Given the description of an element on the screen output the (x, y) to click on. 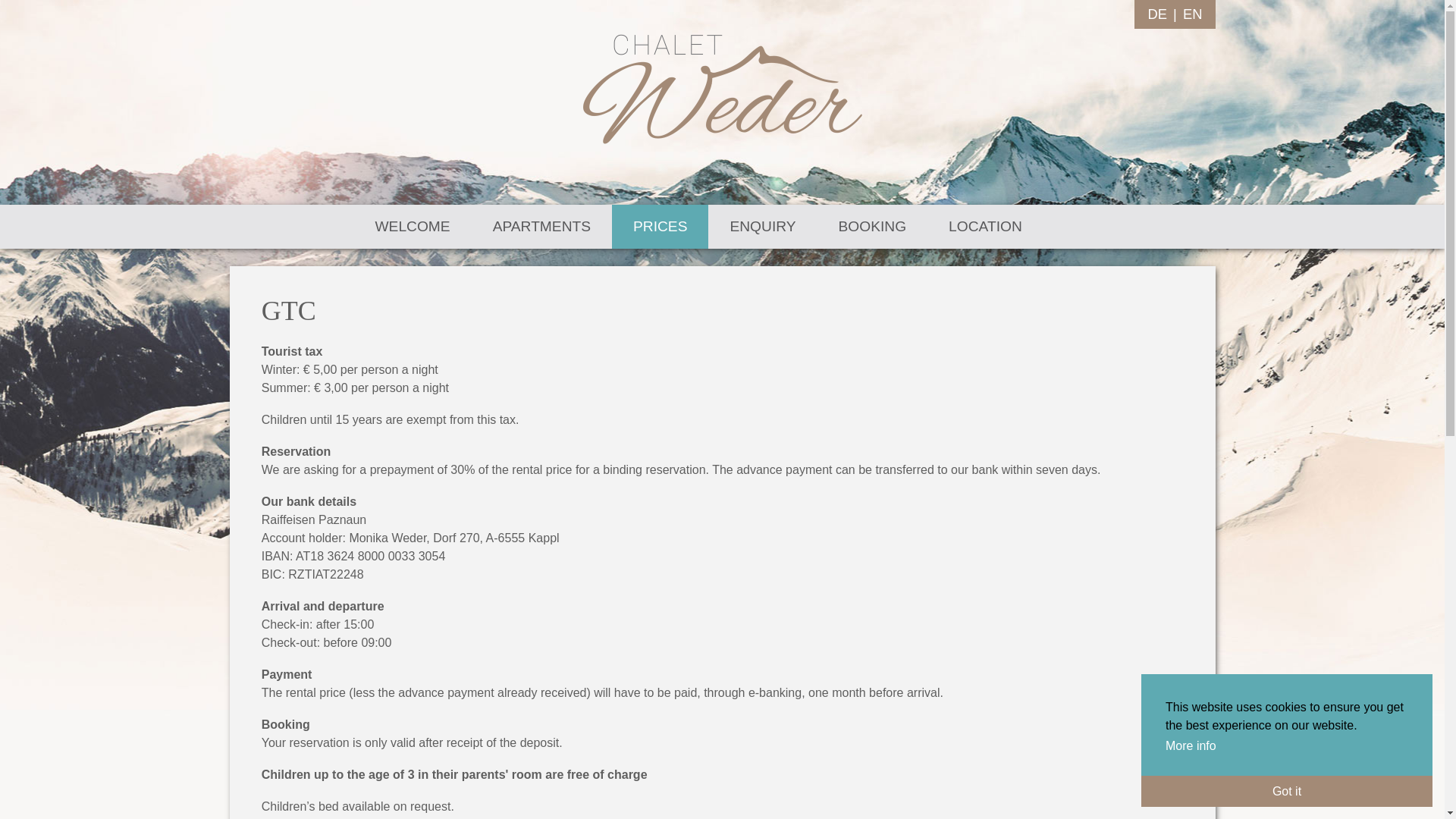
Booking (872, 226)
PRICES (659, 226)
Location (985, 226)
Got it (1286, 790)
deutsch (1156, 13)
More info (1192, 745)
ENQUIRY (761, 226)
Prices (659, 226)
Welcome (411, 226)
DE (1156, 13)
BOOKING (872, 226)
Chalet Weder Kappl (721, 89)
Apartments (541, 226)
LOCATION (985, 226)
EN (1192, 13)
